Given the description of an element on the screen output the (x, y) to click on. 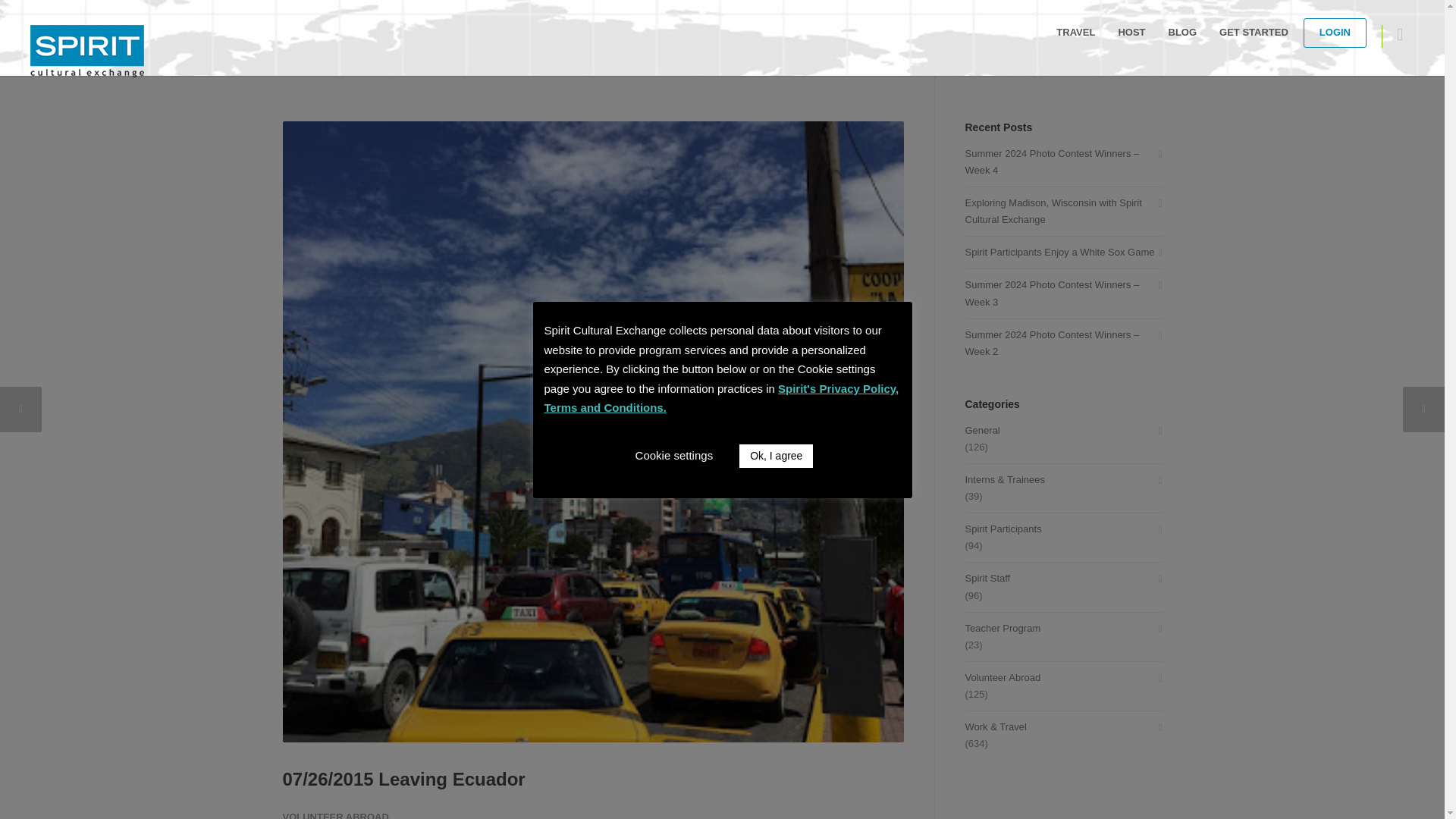
LOGIN (1335, 32)
BLOG (1182, 32)
HOST (1131, 32)
GET STARTED (1254, 32)
TRAVEL (1075, 32)
